Given the description of an element on the screen output the (x, y) to click on. 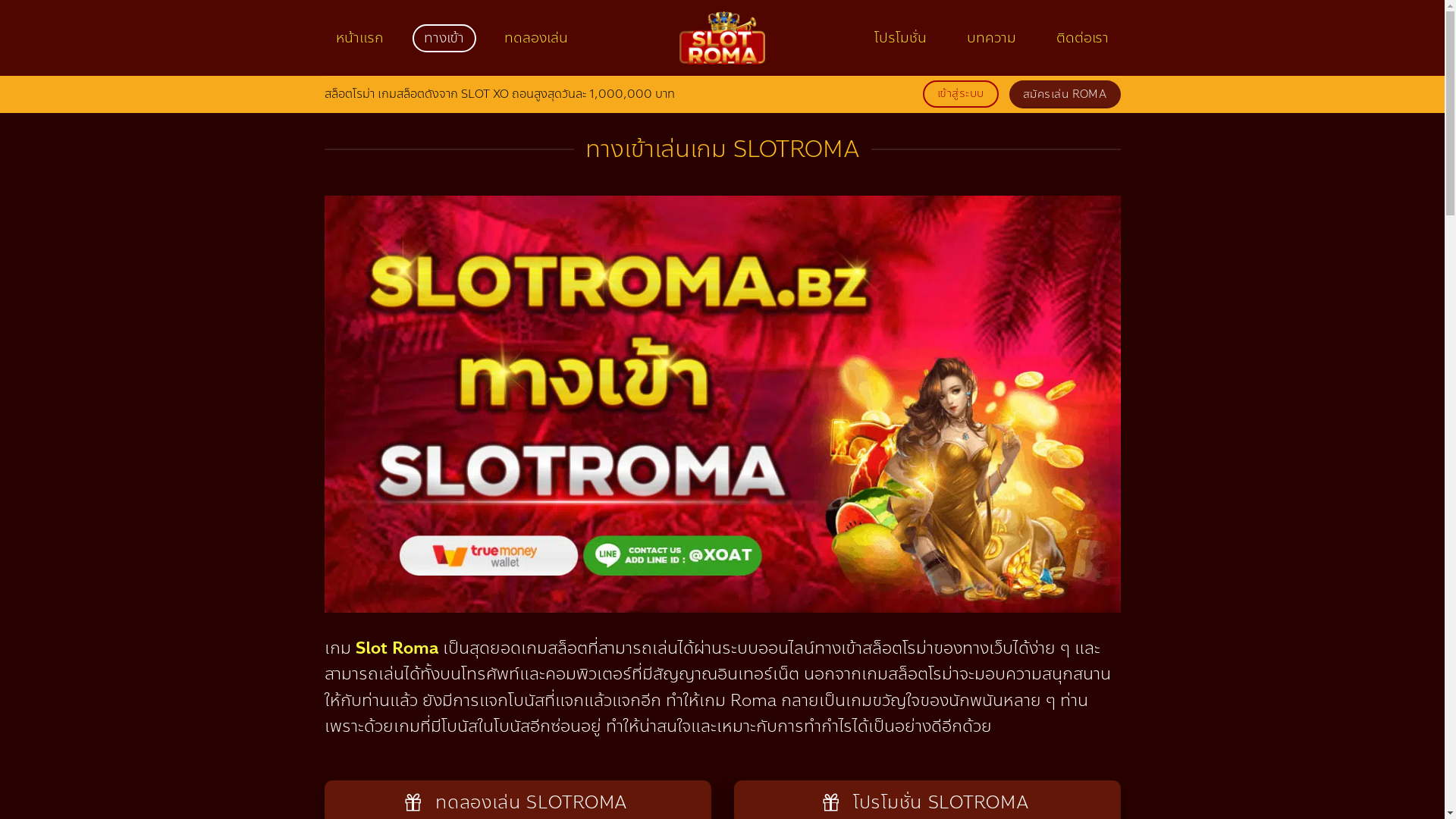
Slot Roma Element type: text (395, 648)
